Given the description of an element on the screen output the (x, y) to click on. 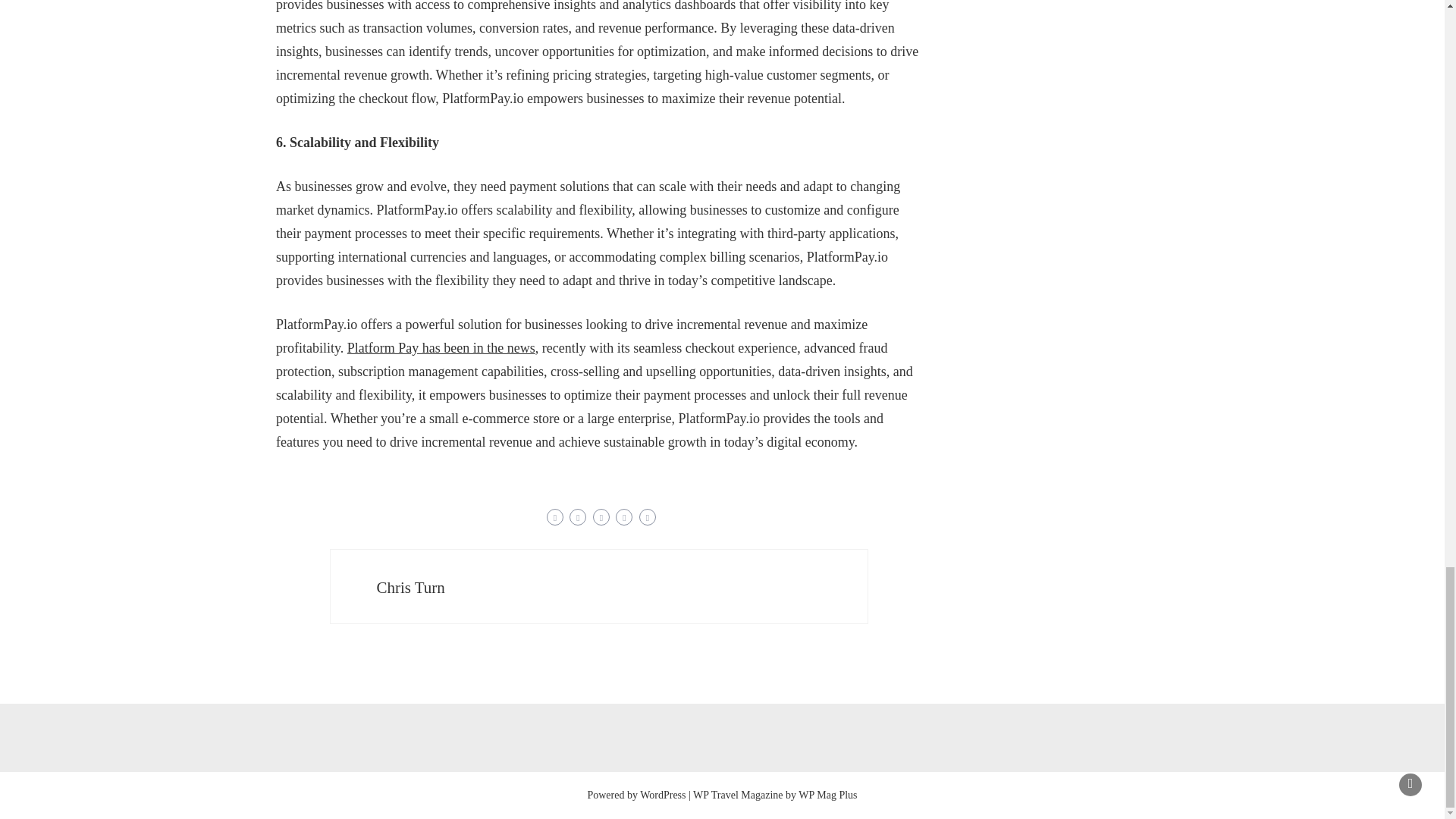
Chris Turn (409, 587)
WordPress (662, 794)
WP Travel Magazine by WP Mag Plus (775, 794)
Platform Pay has been in the news (441, 347)
